Given the description of an element on the screen output the (x, y) to click on. 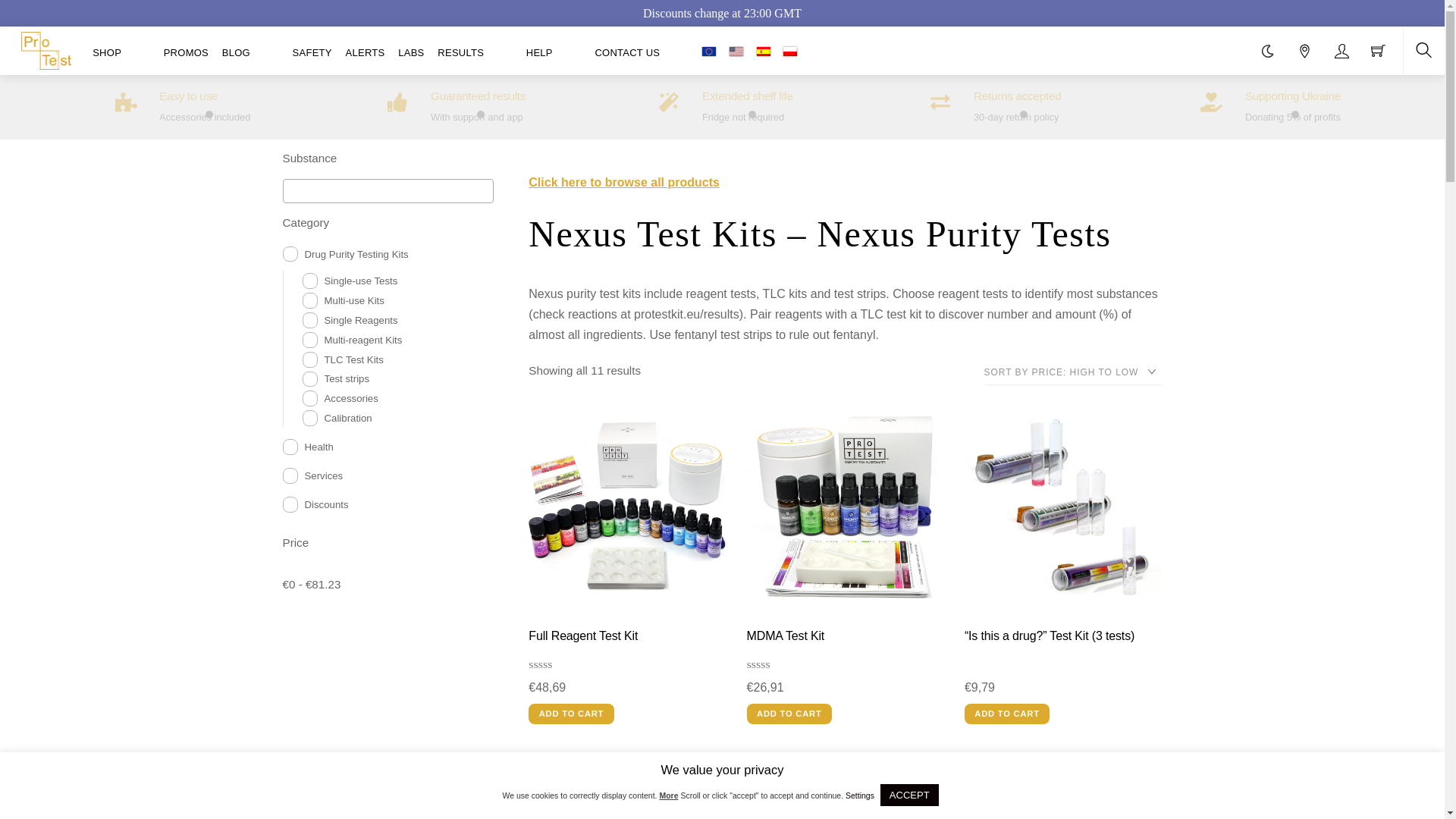
Discounts change at 23:00 GMT (722, 12)
Froehde reagent (627, 785)
multiple-use-test-kits (309, 300)
discounts (290, 504)
tlc-test-kits (309, 359)
Simon's reagent (845, 785)
Full Reagent Test Kit (627, 507)
MDMA test kit (845, 507)
services (290, 475)
single-use-tests (309, 280)
calibration (309, 417)
accessories (309, 398)
Robadope reagent (1062, 785)
multi-reagent-kits (309, 340)
drug-purity-testing-kits (290, 254)
